Given the description of an element on the screen output the (x, y) to click on. 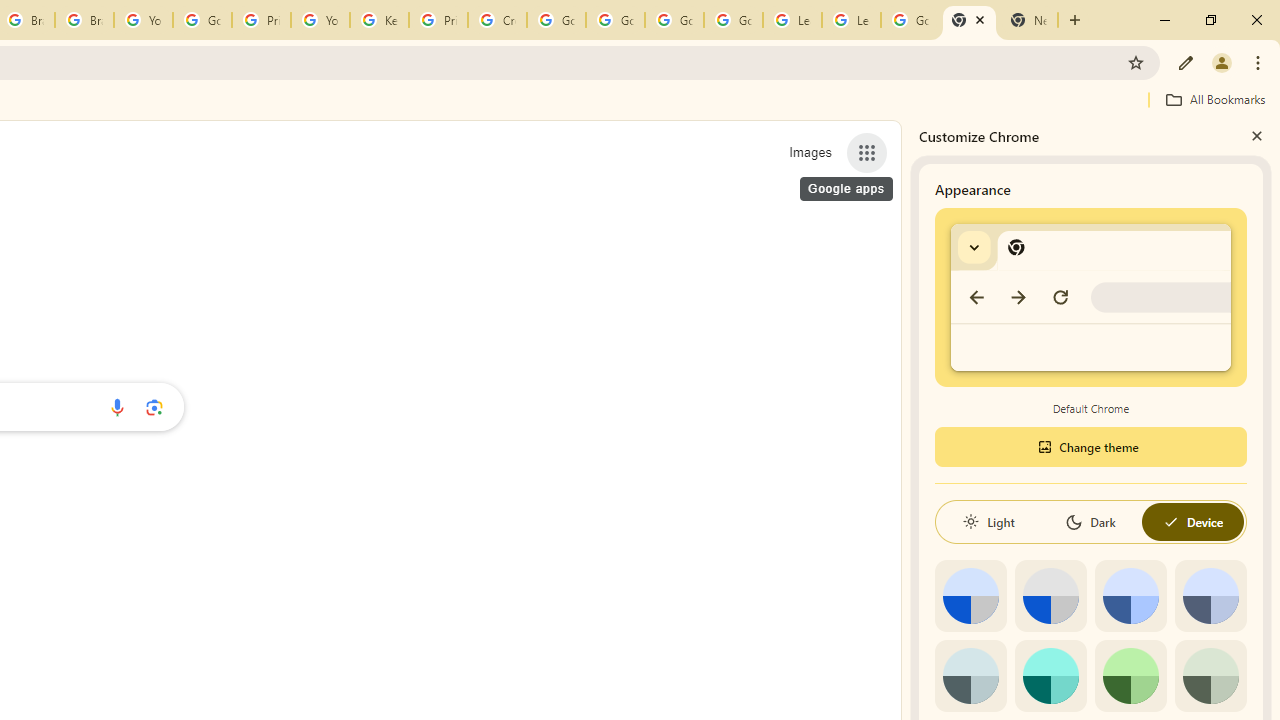
Default color (970, 596)
Google Account (909, 20)
Viridian (1210, 676)
Default Chrome (1091, 296)
Blue (1130, 596)
Create your Google Account (497, 20)
Grey default color (1050, 596)
Aqua (1050, 676)
Dark (1090, 521)
Light (988, 521)
AutomationID: baseSvg (1170, 521)
Cool grey (1210, 596)
